Given the description of an element on the screen output the (x, y) to click on. 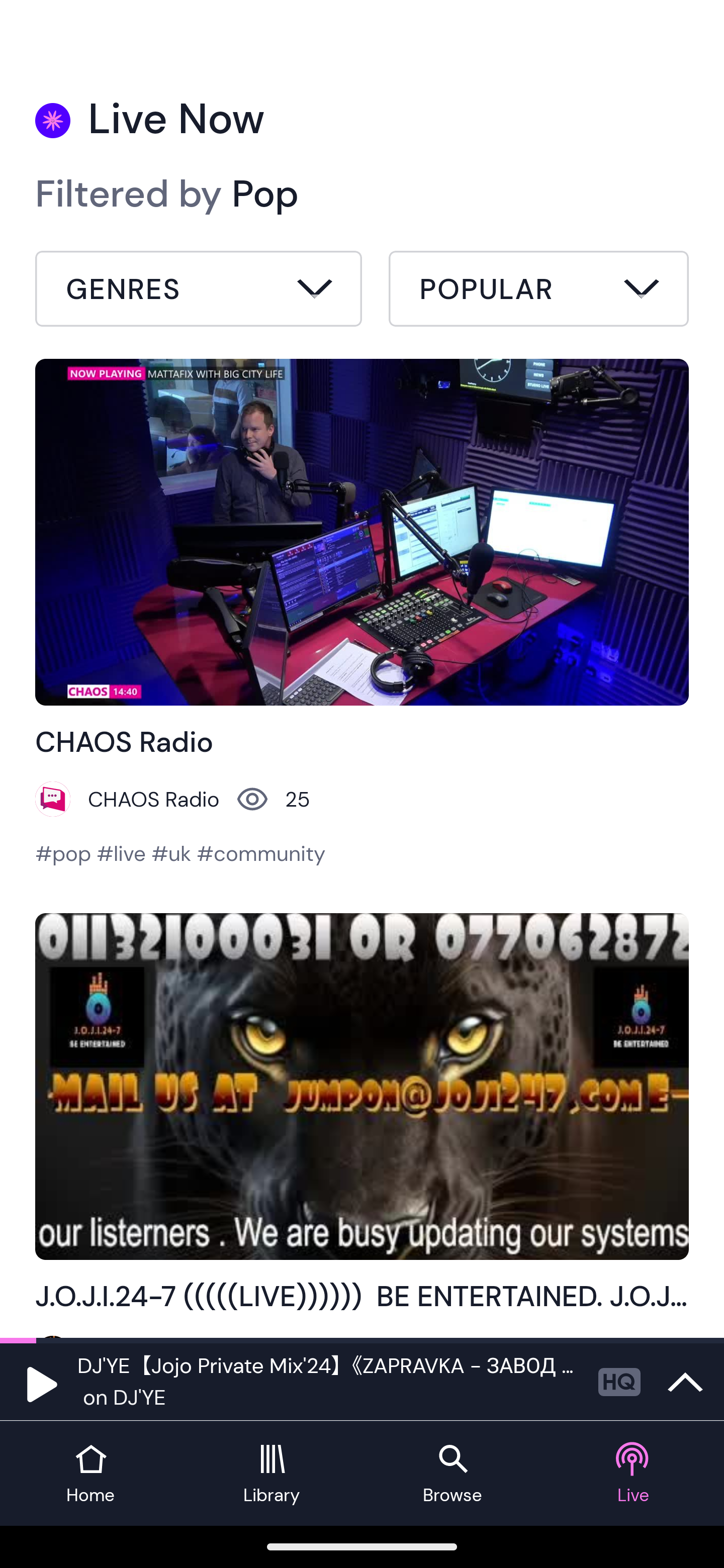
Filter by button Pop (198, 291)
Sort by button Popular (538, 291)
Home tab Home (90, 1473)
Library tab Library (271, 1473)
Browse tab Browse (452, 1473)
Live tab Live (633, 1473)
